Given the description of an element on the screen output the (x, y) to click on. 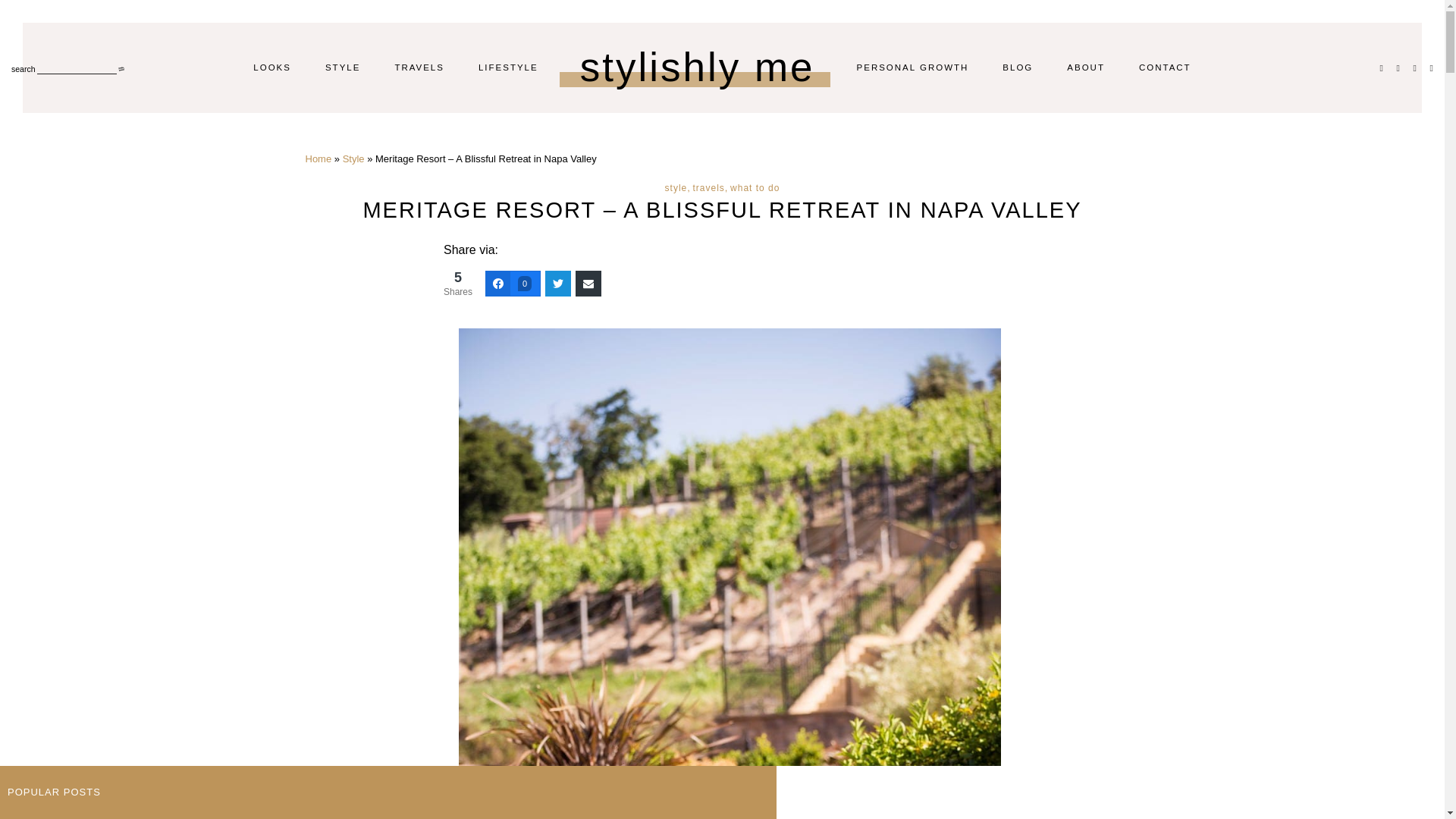
TRAVELS (419, 67)
travels (708, 187)
PERSONAL GROWTH (913, 67)
ABOUT (1086, 67)
style (676, 187)
0 (512, 283)
LIFESTYLE (508, 67)
what to do (754, 187)
stylishly me (697, 66)
Style (353, 158)
